Given the description of an element on the screen output the (x, y) to click on. 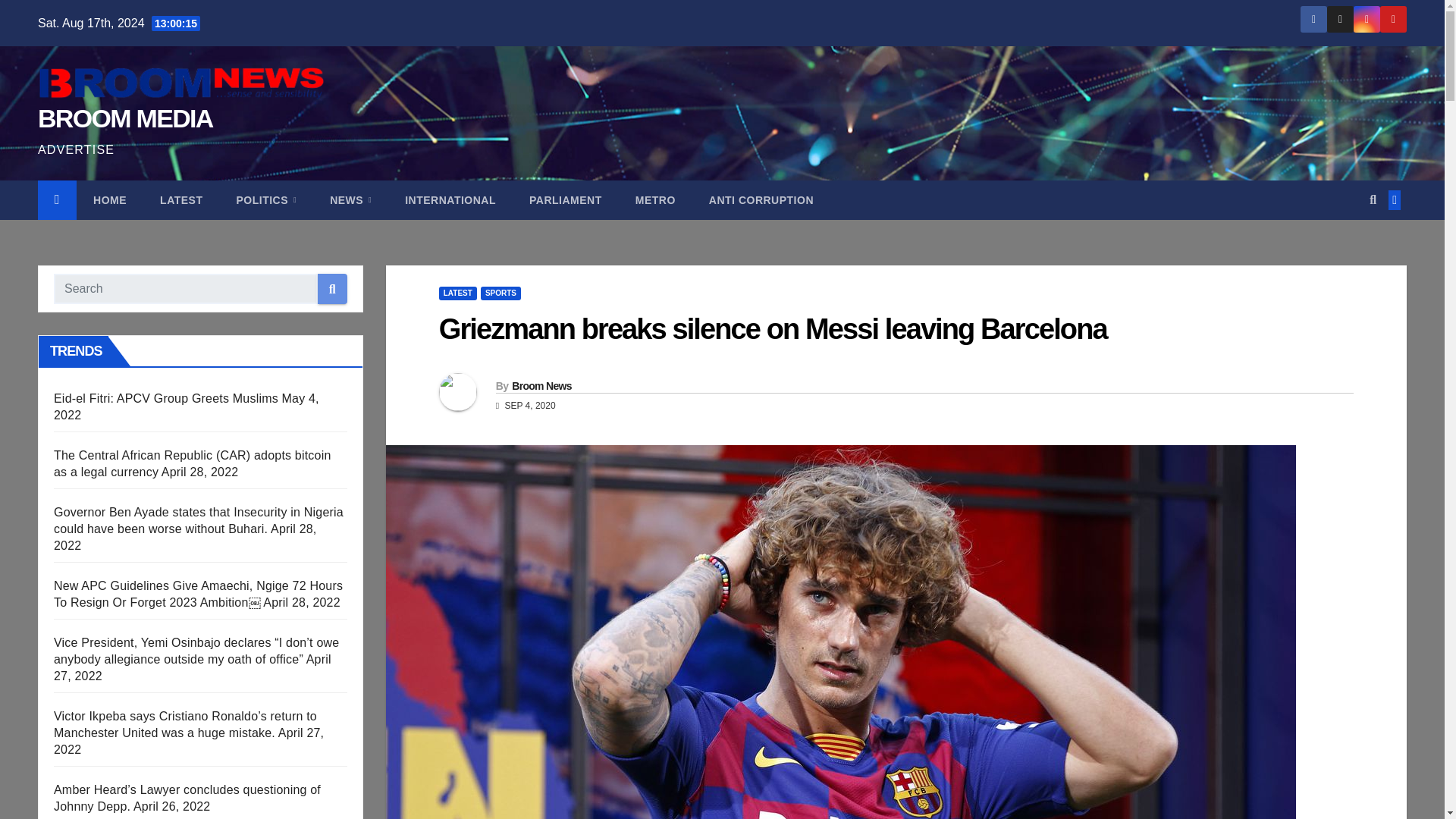
Latest (180, 200)
LATEST (180, 200)
Eid-el Fitri: APCV Group Greets Muslims (165, 398)
PARLIAMENT (565, 200)
NEWS (350, 200)
METRO (655, 200)
BROOM MEDIA (124, 118)
POLITICS (266, 200)
ANTI CORRUPTION (761, 200)
HOME (109, 200)
